Given the description of an element on the screen output the (x, y) to click on. 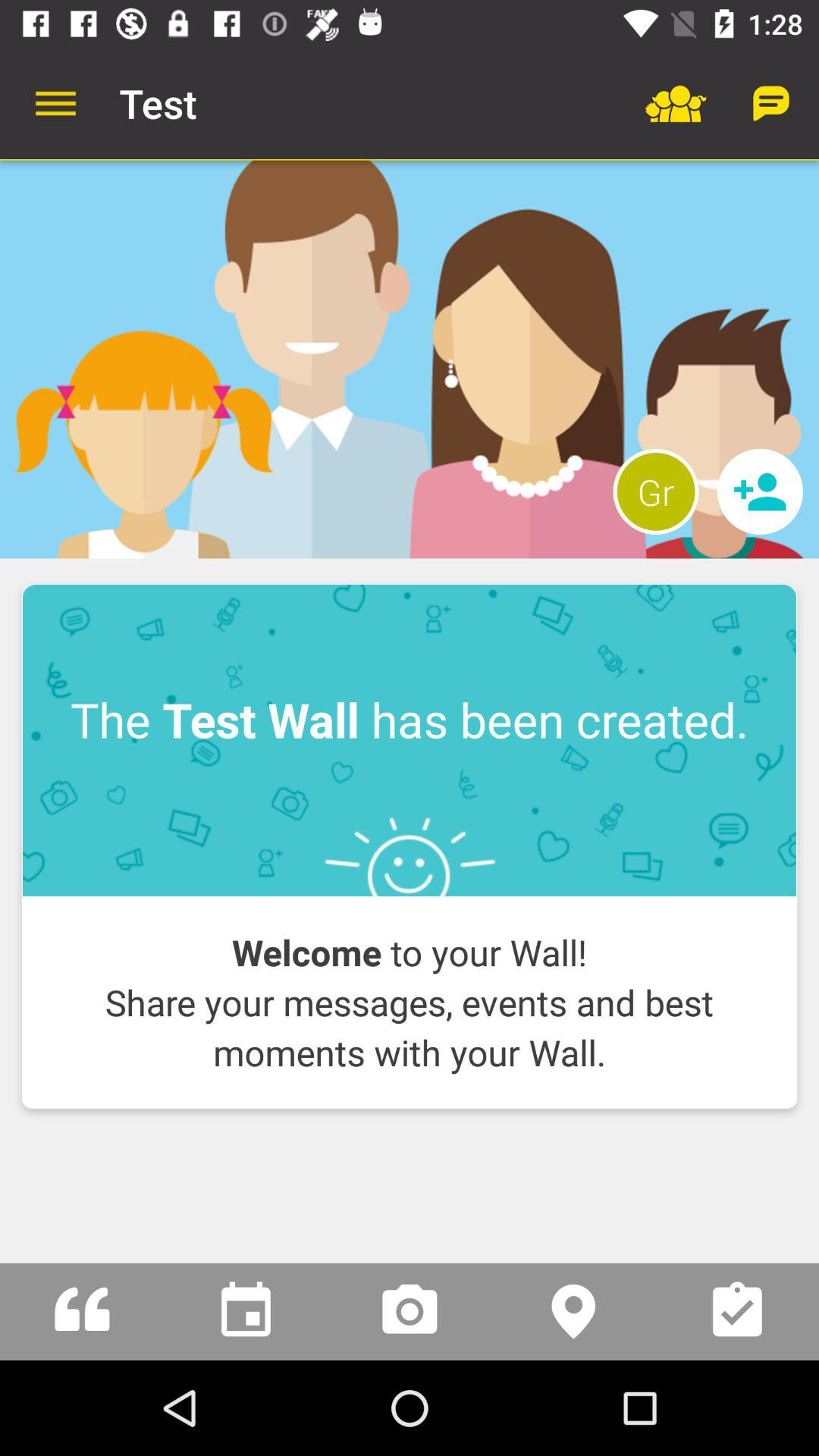
photo icon (409, 1311)
